Given the description of an element on the screen output the (x, y) to click on. 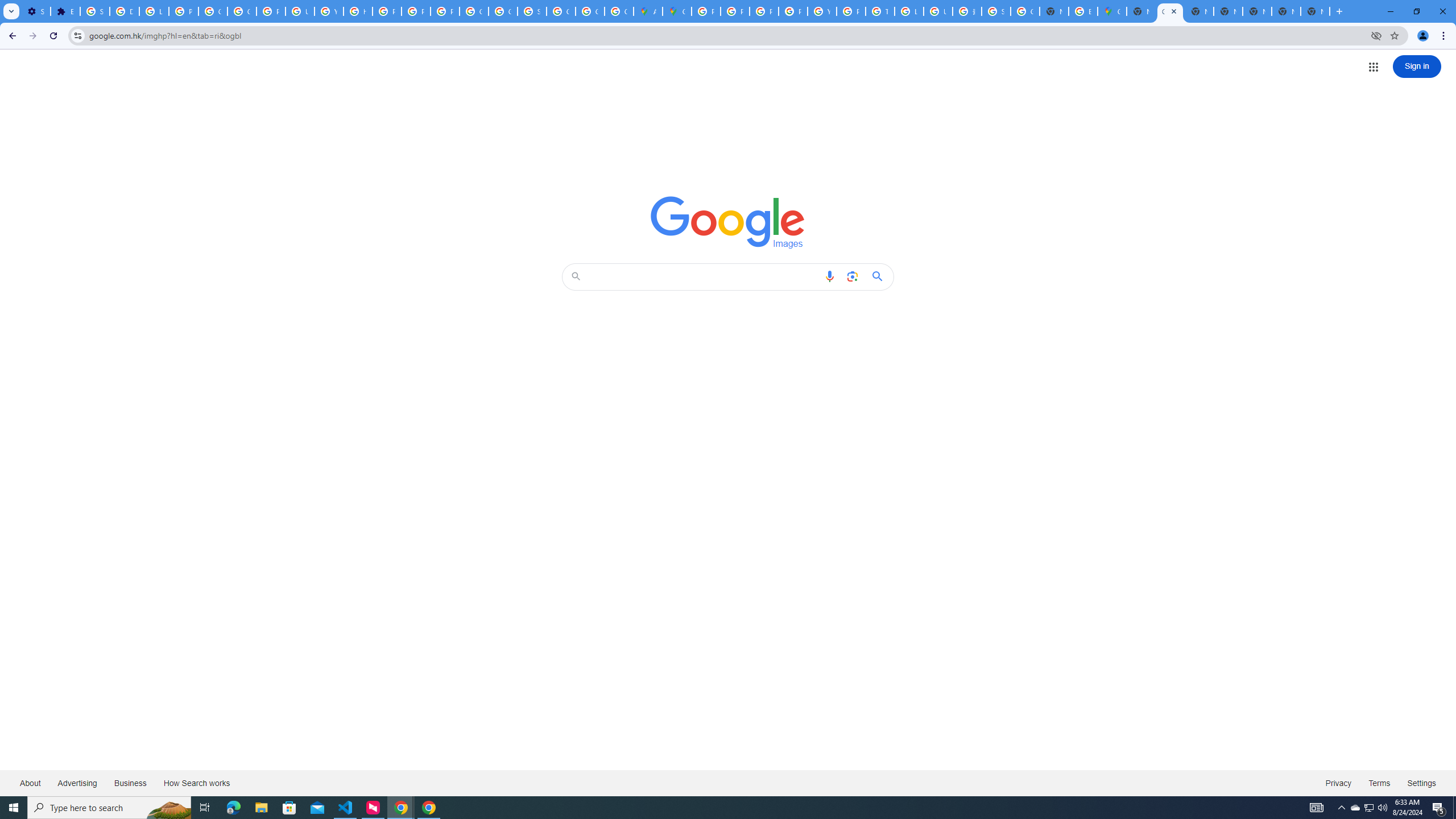
Sign in - Google Accounts (95, 11)
Google Maps (1111, 11)
Delete photos & videos - Computer - Google Photos Help (124, 11)
Google Maps (677, 11)
Search by image (852, 276)
